Given the description of an element on the screen output the (x, y) to click on. 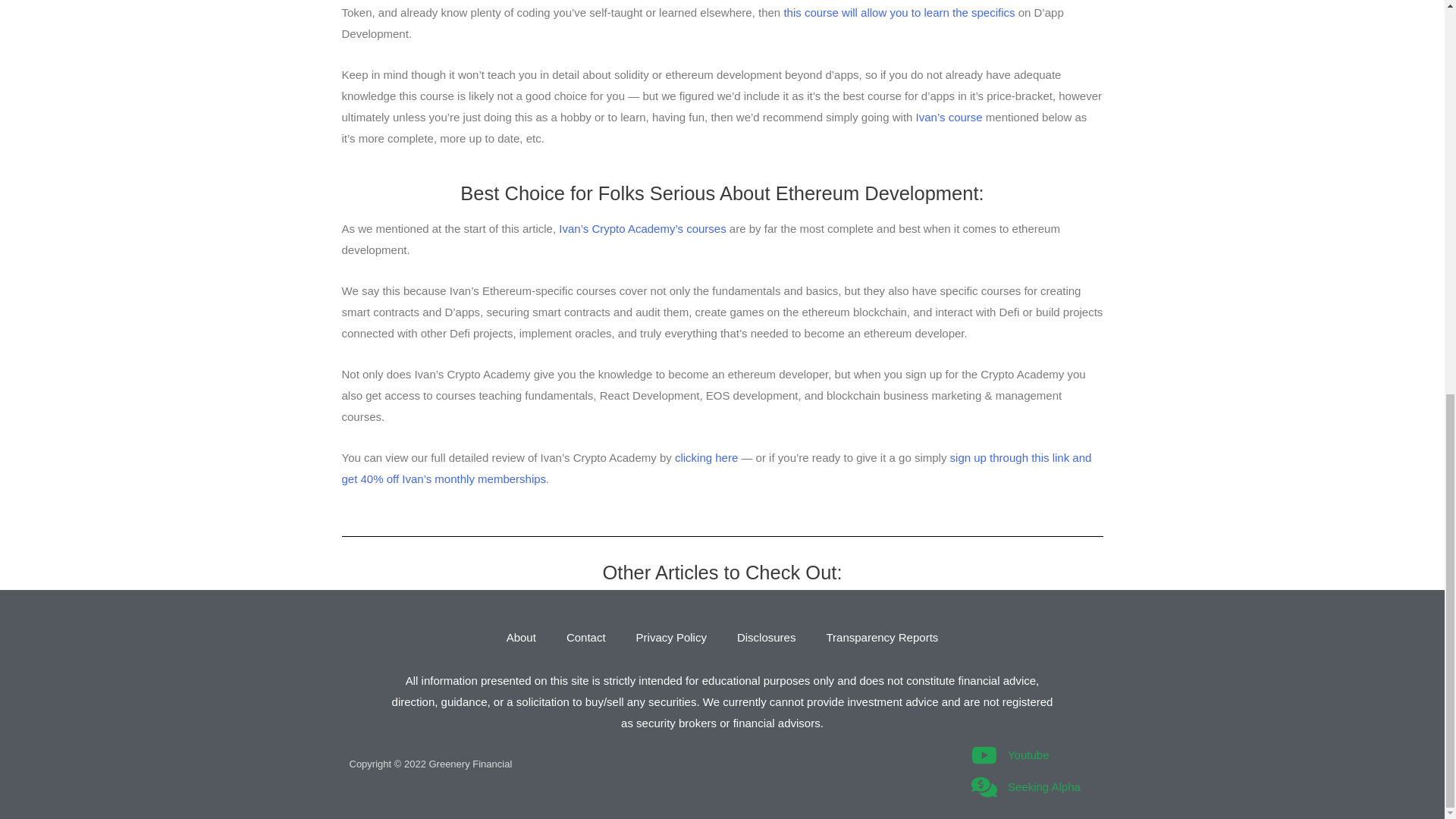
Transparency Reports (881, 637)
Seeking Alpha (1032, 786)
Privacy Policy (671, 637)
Youtube (1032, 755)
About (521, 637)
Disclosures (766, 637)
clicking here (706, 457)
this course will allow you to learn the specifics (898, 11)
Contact (586, 637)
